Given the description of an element on the screen output the (x, y) to click on. 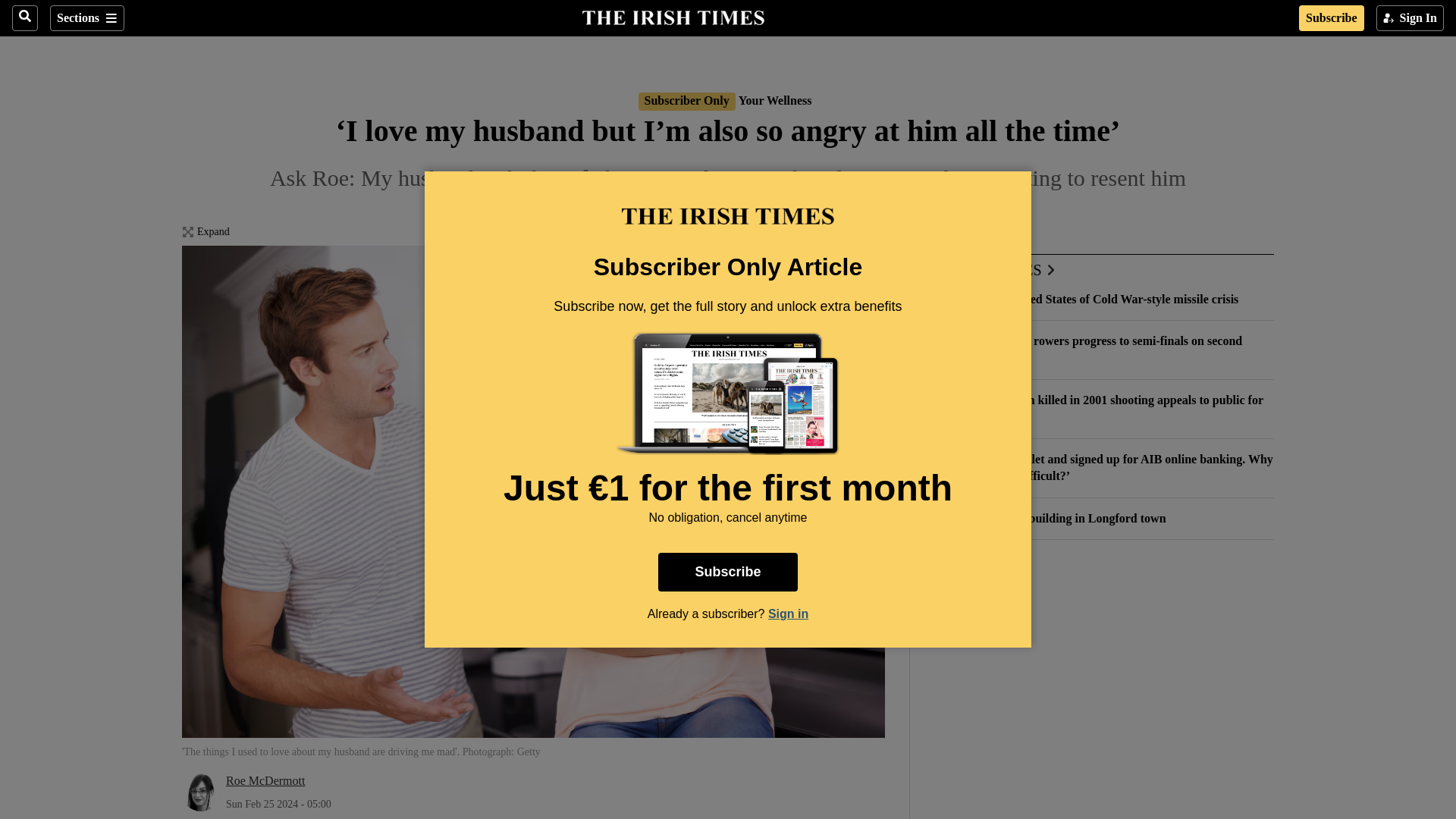
Sign In (1409, 17)
Sections (86, 17)
The Irish Times (673, 16)
Subscribe (1331, 17)
